Given the description of an element on the screen output the (x, y) to click on. 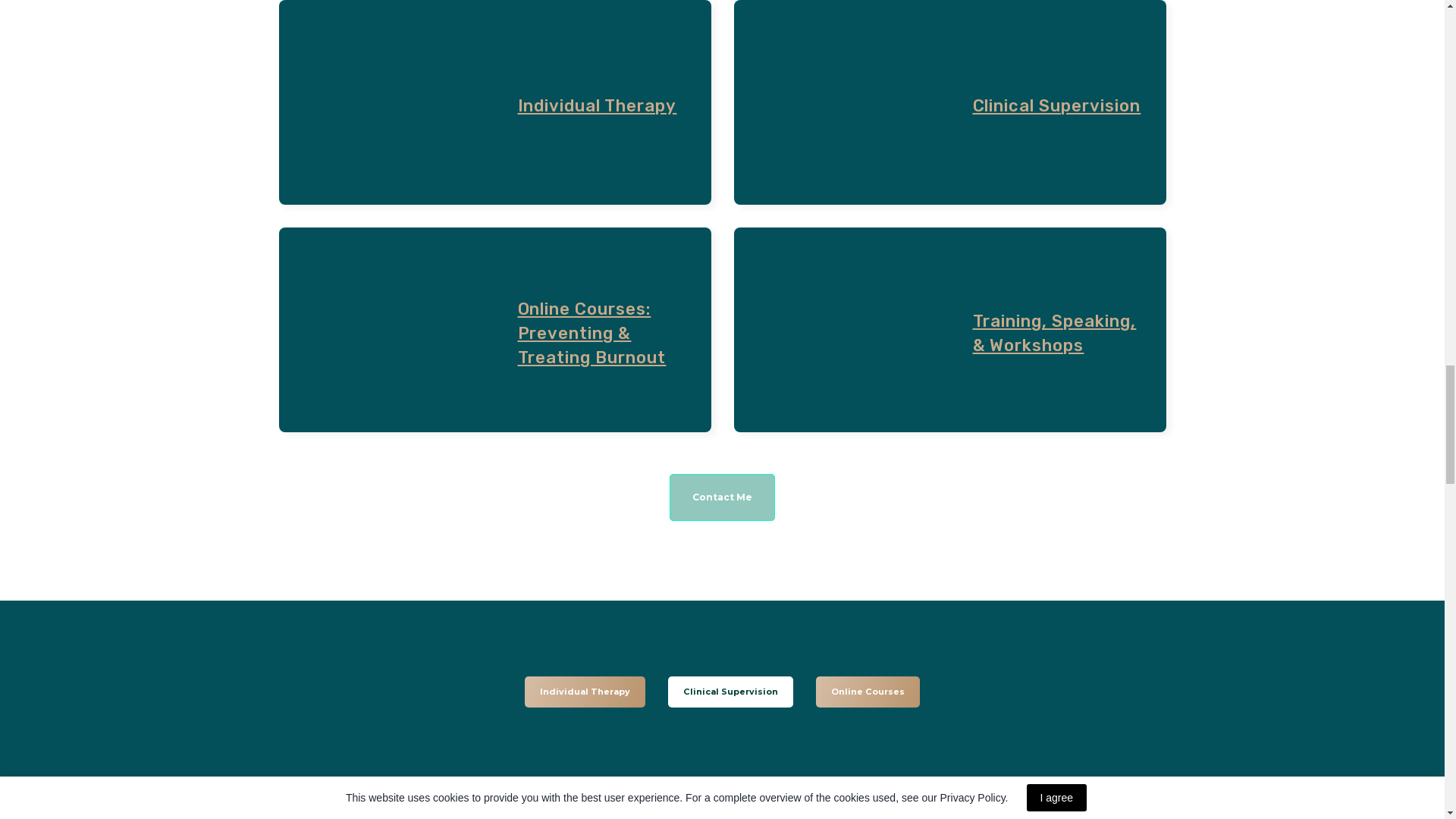
Contact Me (721, 497)
Individual Therapy (584, 691)
Clinical Supervision (730, 691)
Online Courses (867, 691)
Individual Therapy (596, 105)
Clinical Supervision (1056, 105)
